Given the description of an element on the screen output the (x, y) to click on. 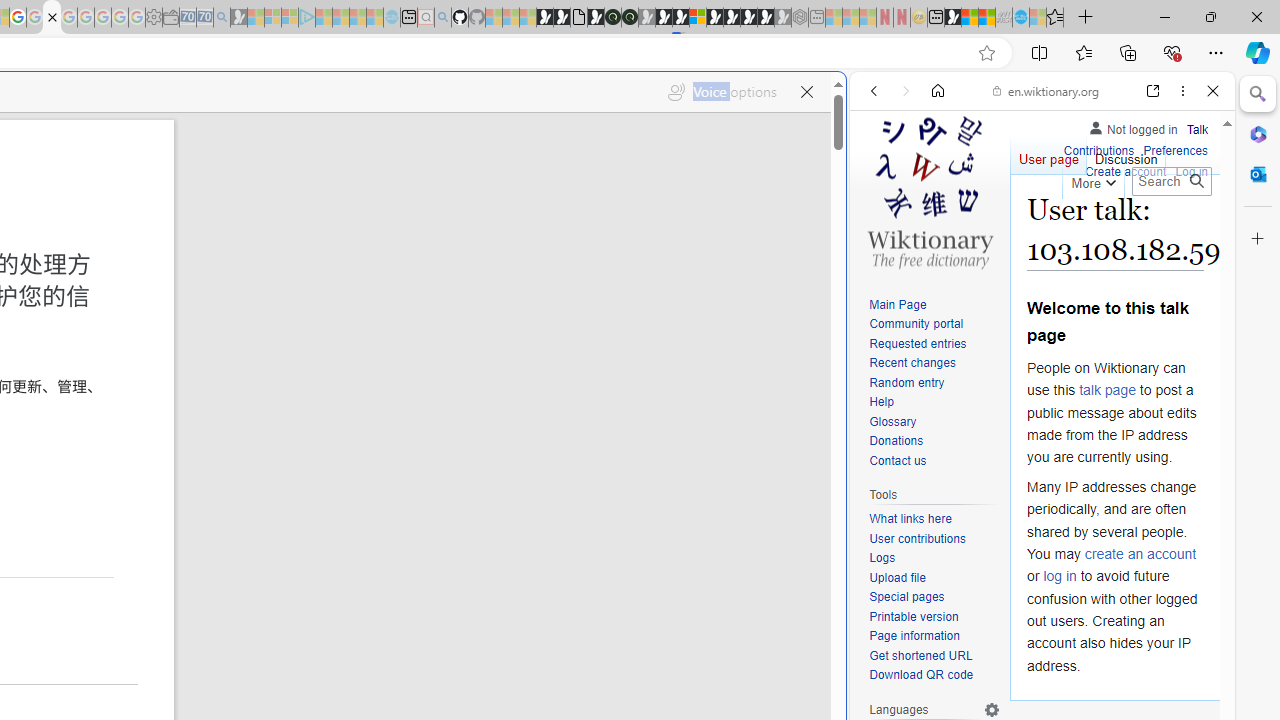
Preferences (1175, 148)
Create account (1125, 172)
Donations (934, 442)
Sign in to your account (697, 17)
Visit the main page (929, 190)
Search Filter, IMAGES (939, 228)
Search Filter, VIDEOS (1006, 228)
